Given the description of an element on the screen output the (x, y) to click on. 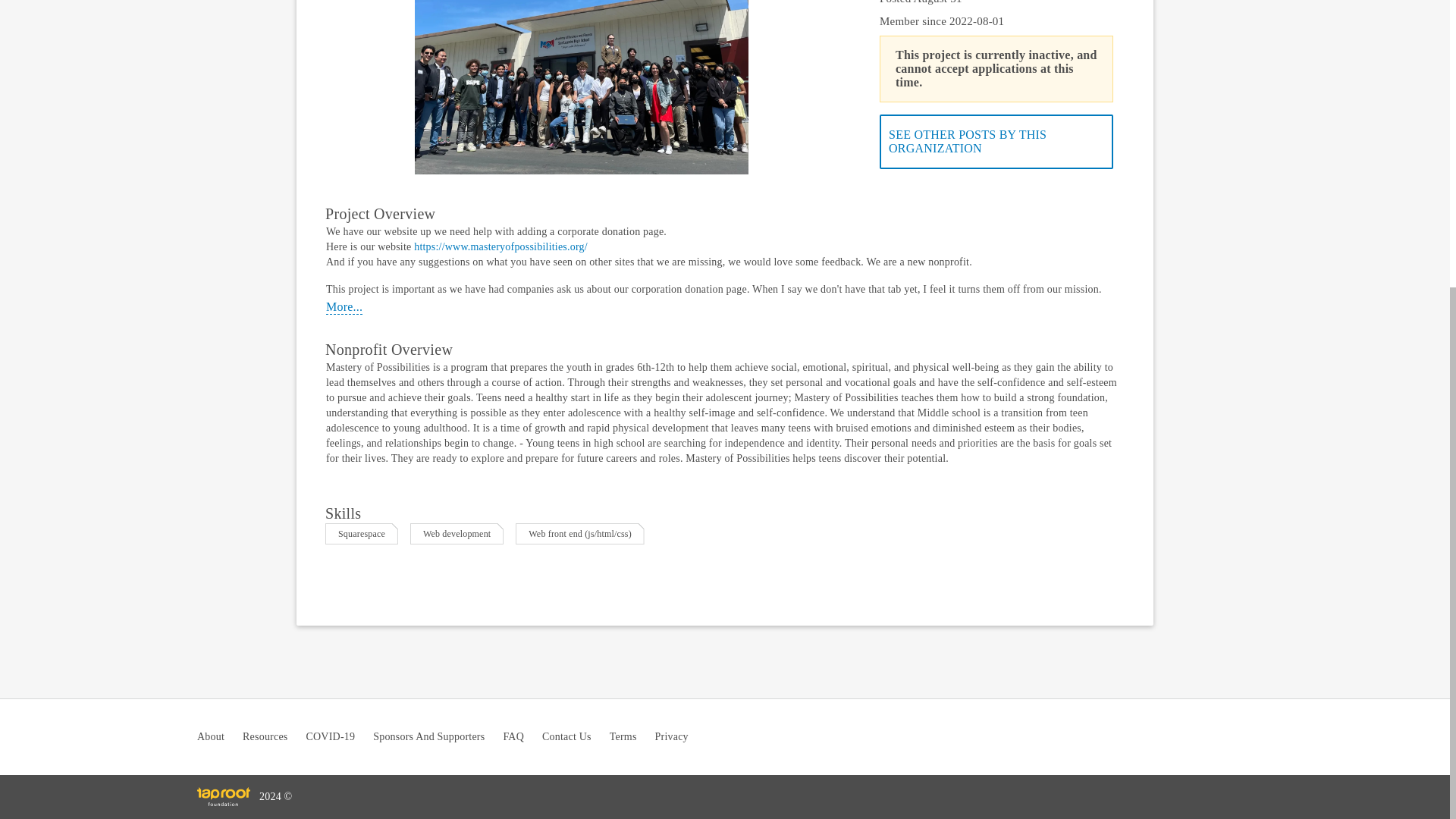
COVID-19 (330, 736)
Sponsors And Supporters (428, 736)
Resources (264, 736)
About (210, 736)
Contact Us (566, 736)
More... (344, 307)
SEE OTHER POSTS BY THIS ORGANIZATION (996, 141)
FAQ (513, 736)
Terms (623, 736)
Privacy (671, 736)
